Given the description of an element on the screen output the (x, y) to click on. 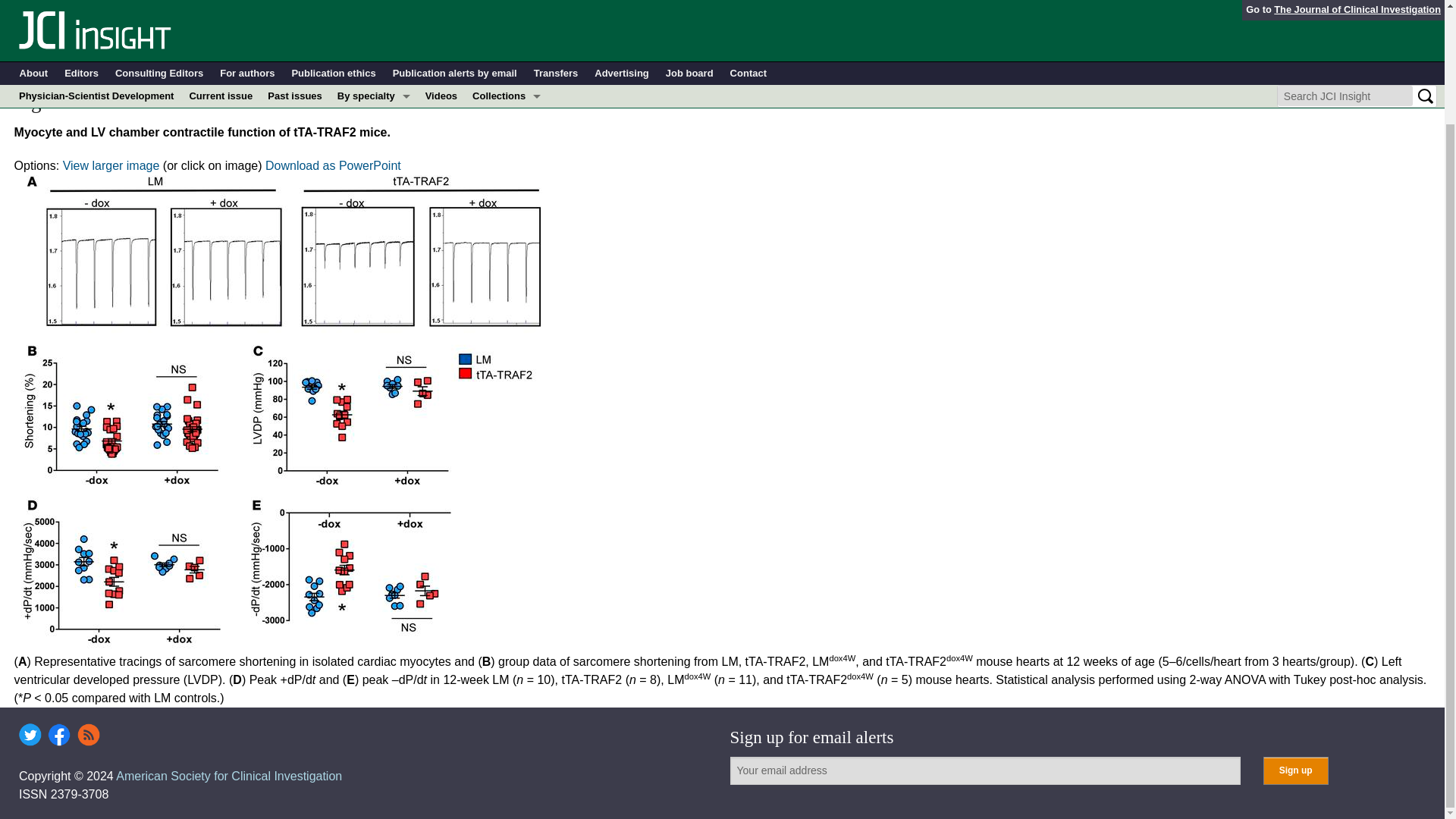
Sign up (1295, 770)
Editorials (506, 51)
Pulmonology (373, 119)
RSS (88, 734)
Clinical Medicine (506, 29)
Metabolism (373, 51)
Immunology (373, 29)
Oncology (373, 97)
Nephrology (373, 74)
All ... (373, 142)
